Given the description of an element on the screen output the (x, y) to click on. 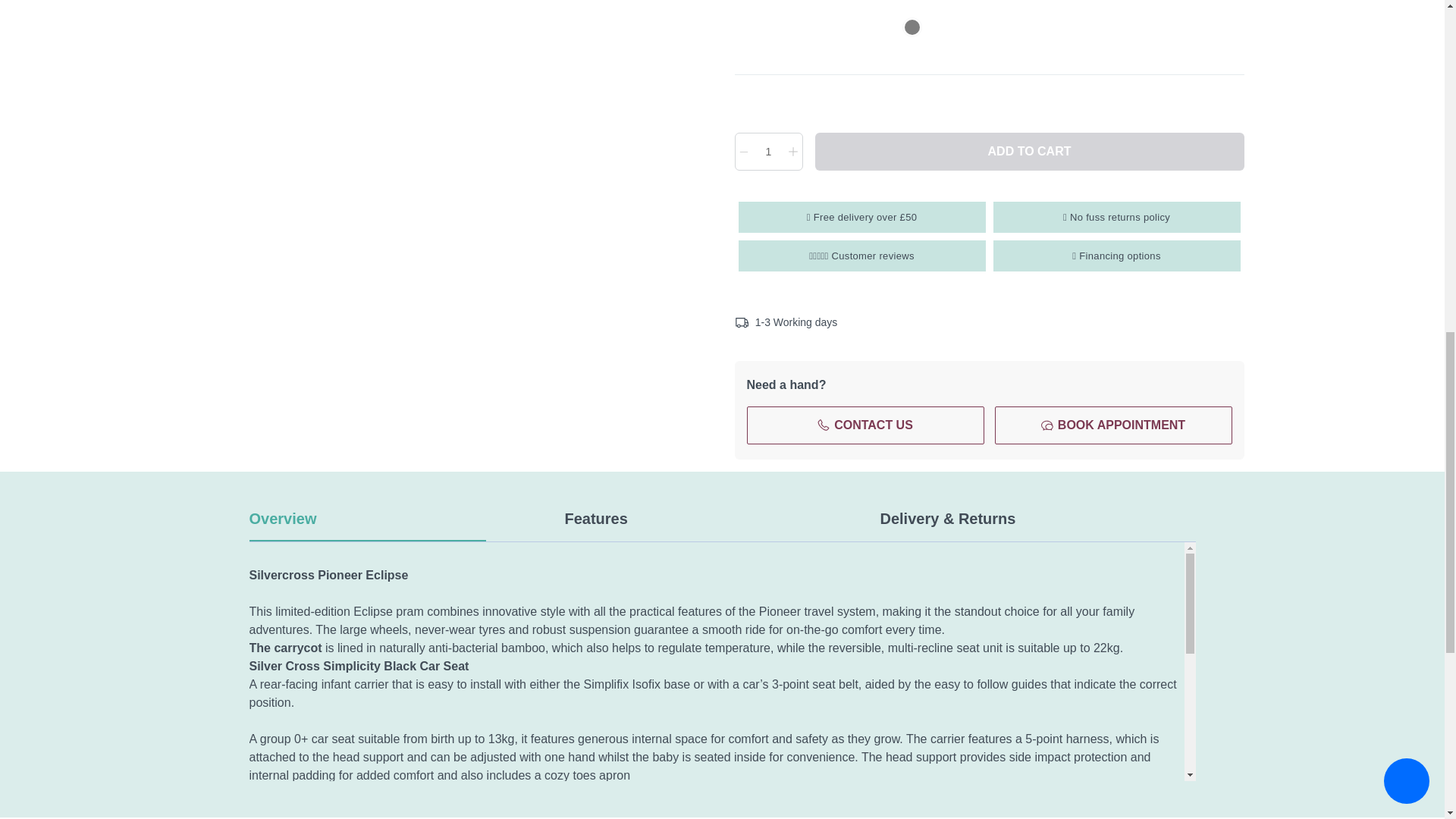
SilverCross Dream iSize base (911, 27)
